Given the description of an element on the screen output the (x, y) to click on. 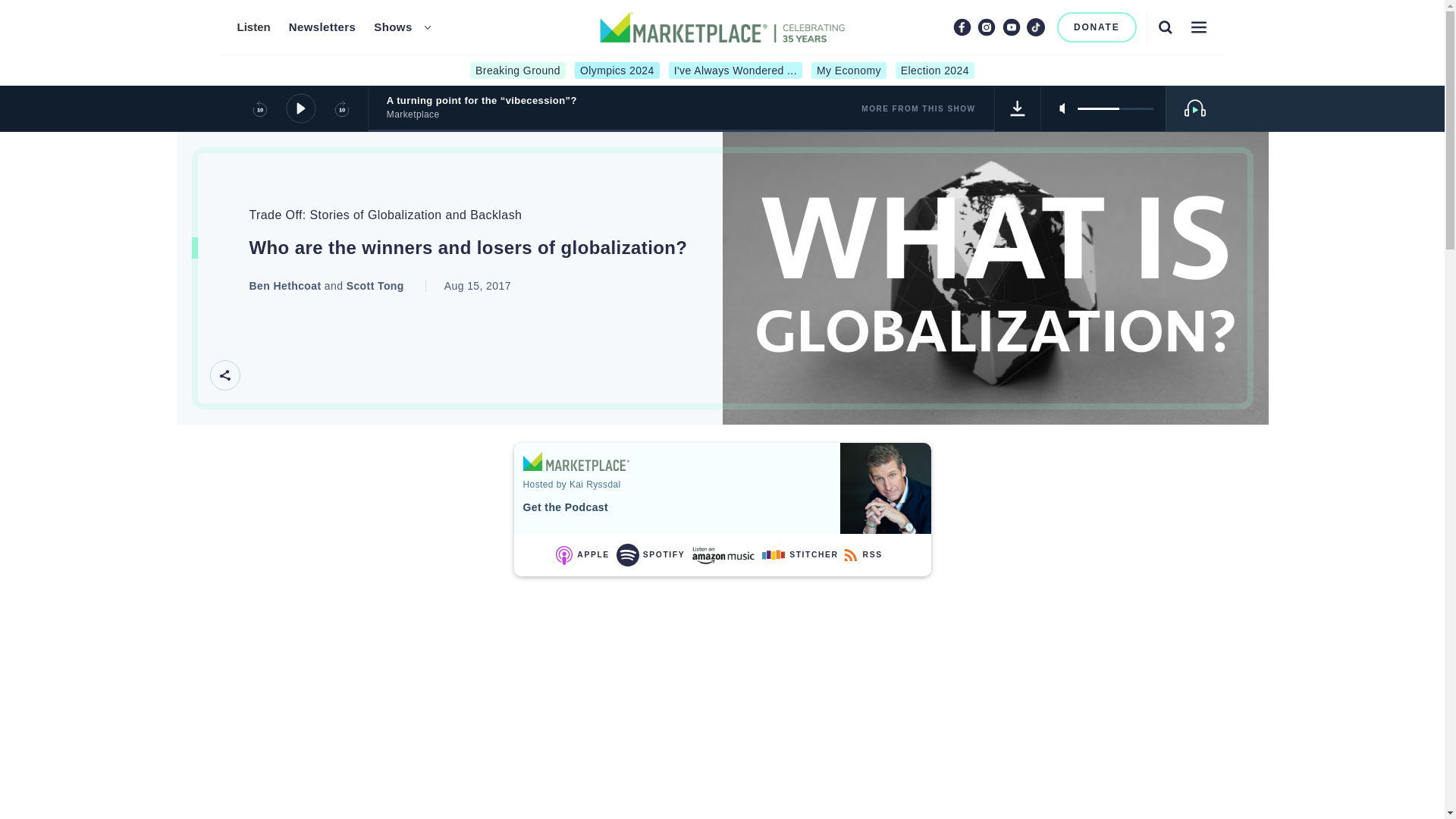
Instagram (985, 27)
Newsletters (322, 27)
Facebook (962, 27)
Listen (252, 26)
Youtube (1011, 27)
DONATE (1097, 27)
Search (1164, 27)
5 (1115, 108)
volume (1115, 108)
